Given the description of an element on the screen output the (x, y) to click on. 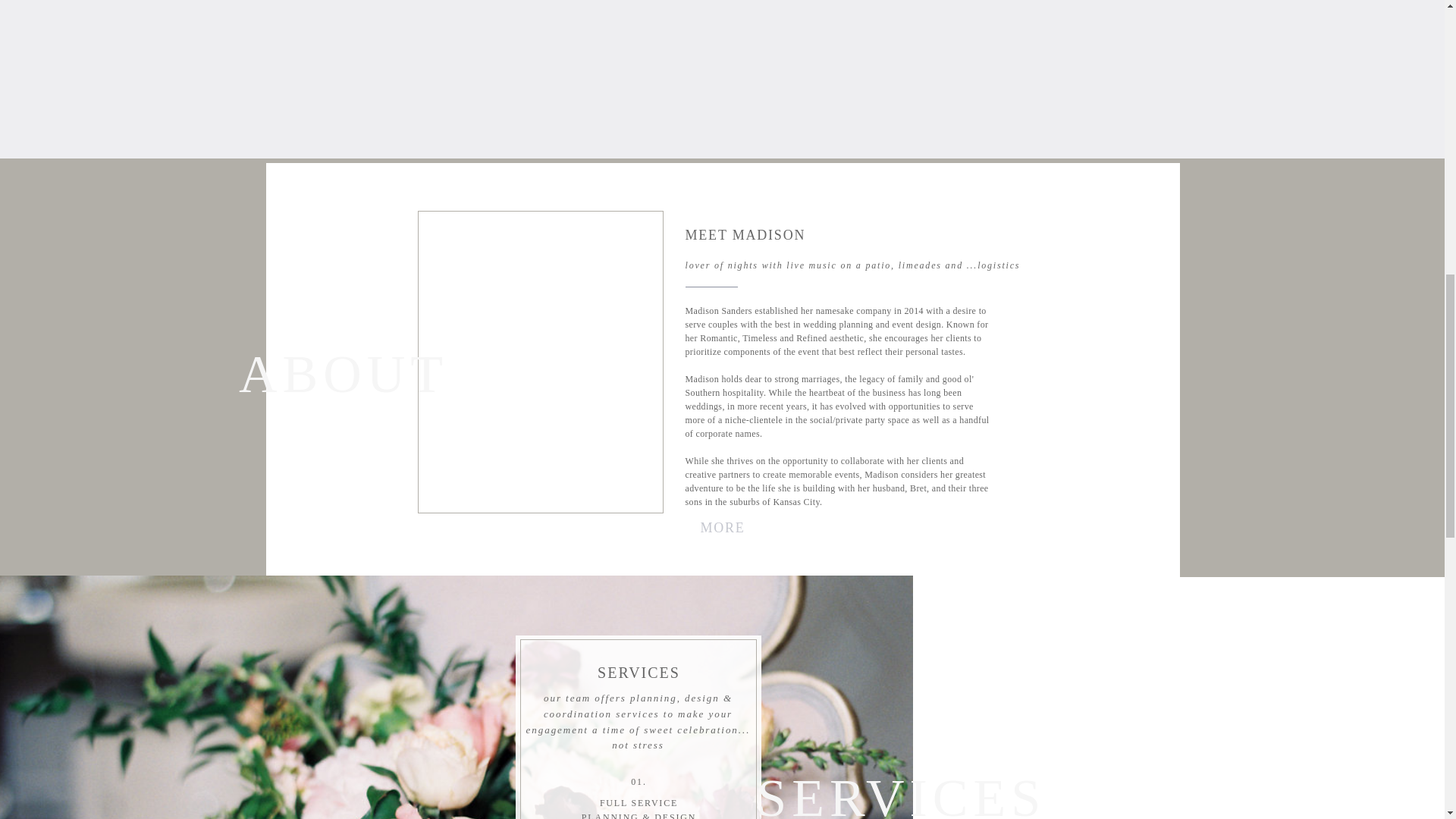
MEET MADISON (835, 238)
MORE (721, 526)
SERVICES (638, 671)
      ABOUT (288, 367)
251682783 (454, 59)
   SERVICES (873, 788)
01. (638, 781)
